Given the description of an element on the screen output the (x, y) to click on. 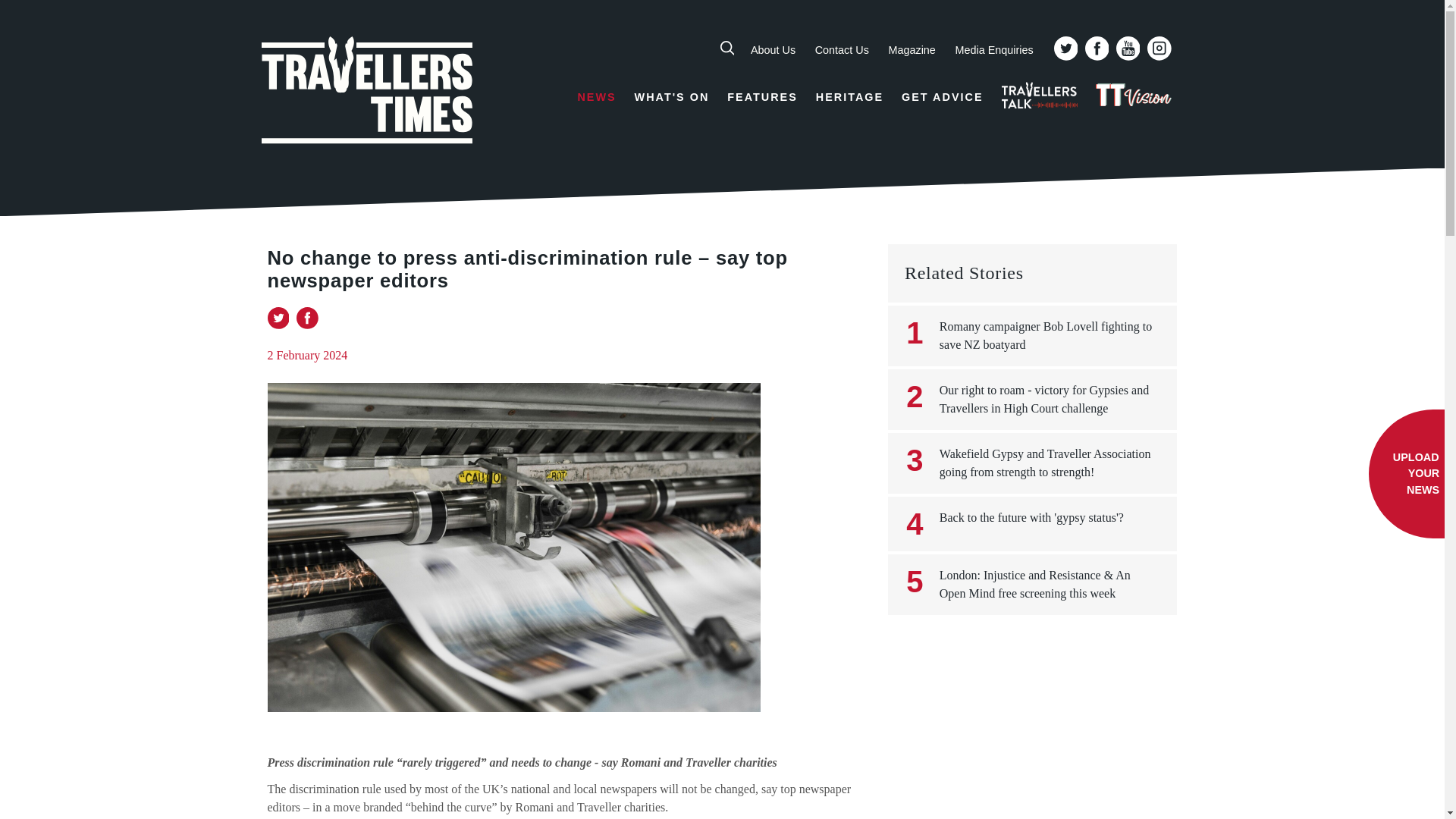
NEWS (595, 97)
Magazine (911, 50)
WHAT'S ON (672, 97)
Search (1064, 97)
Contact Us (842, 50)
FEATURES (761, 97)
Media Enquiries (993, 50)
Home (366, 92)
About Us (772, 50)
